Given the description of an element on the screen output the (x, y) to click on. 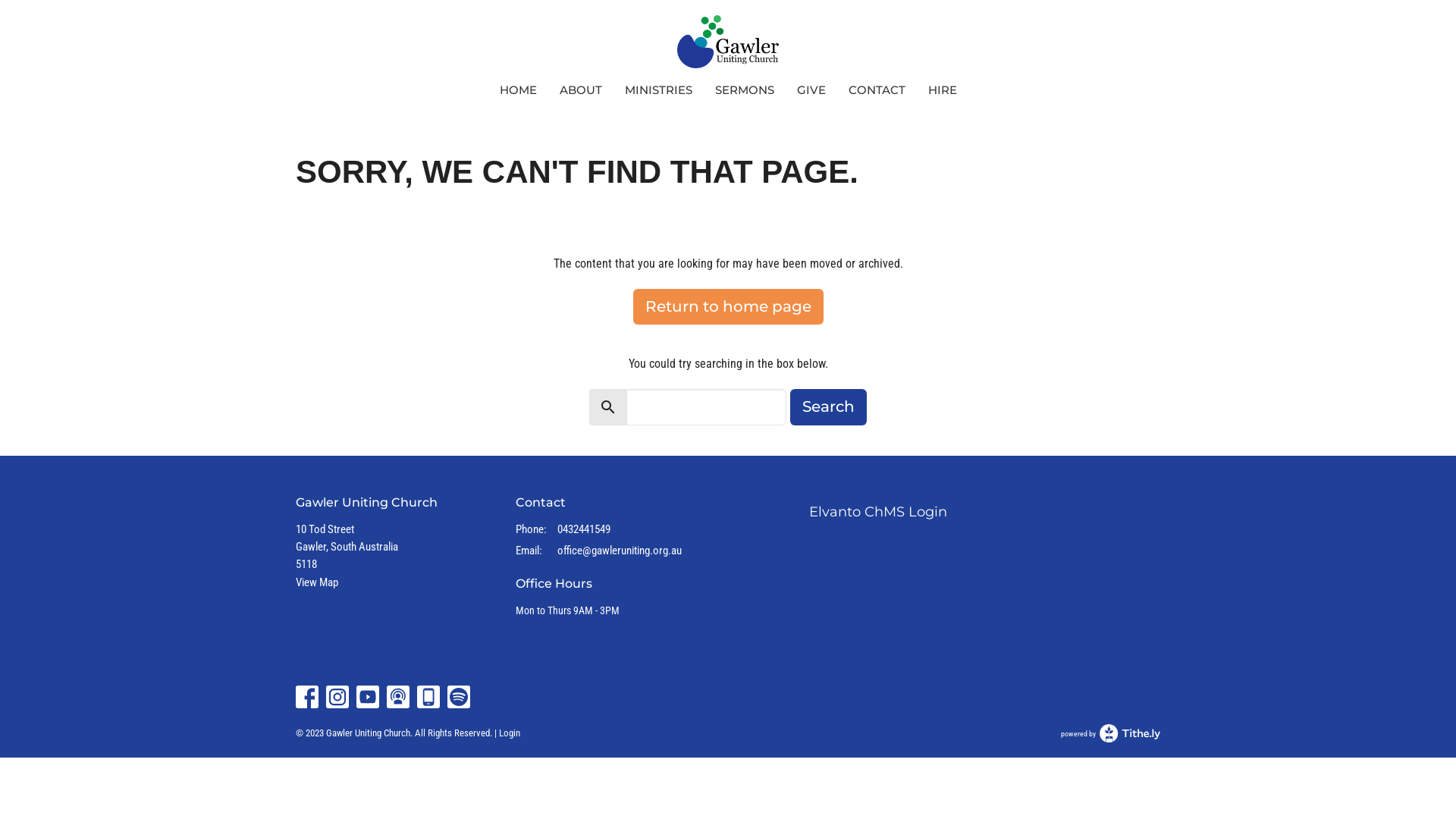
GIVE Element type: text (810, 89)
powered by
Website Developed by Tithely Element type: text (1110, 733)
View Map Element type: text (316, 582)
HIRE Element type: text (942, 89)
SERMONS Element type: text (743, 89)
MINISTRIES Element type: text (658, 89)
Return to home page Element type: text (727, 306)
Search Element type: text (828, 407)
office@gawleruniting.org.au Element type: text (619, 550)
0432441549 Element type: text (583, 529)
HOME Element type: text (517, 89)
ABOUT Element type: text (580, 89)
CONTACT Element type: text (875, 89)
Login Element type: text (509, 732)
Elvanto ChMS Login Element type: text (878, 511)
